Given the description of an element on the screen output the (x, y) to click on. 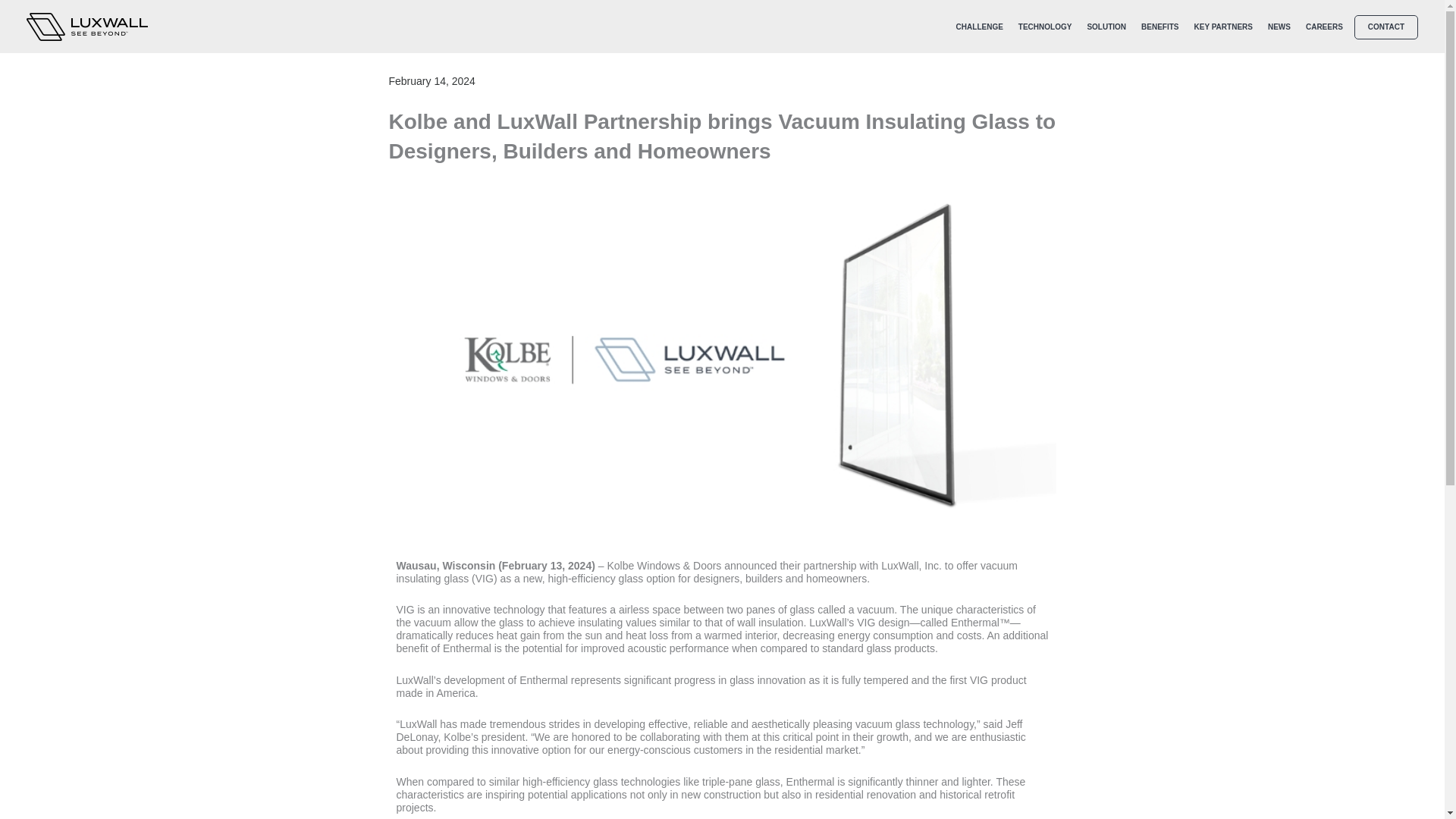
BENEFITS (1160, 27)
SOLUTION (1106, 27)
KEY PARTNERS (1223, 27)
CONTACT (1385, 27)
TECHNOLOGY (1045, 27)
CHALLENGE (979, 27)
NEWS (1279, 27)
CAREERS (1324, 27)
